Given the description of an element on the screen output the (x, y) to click on. 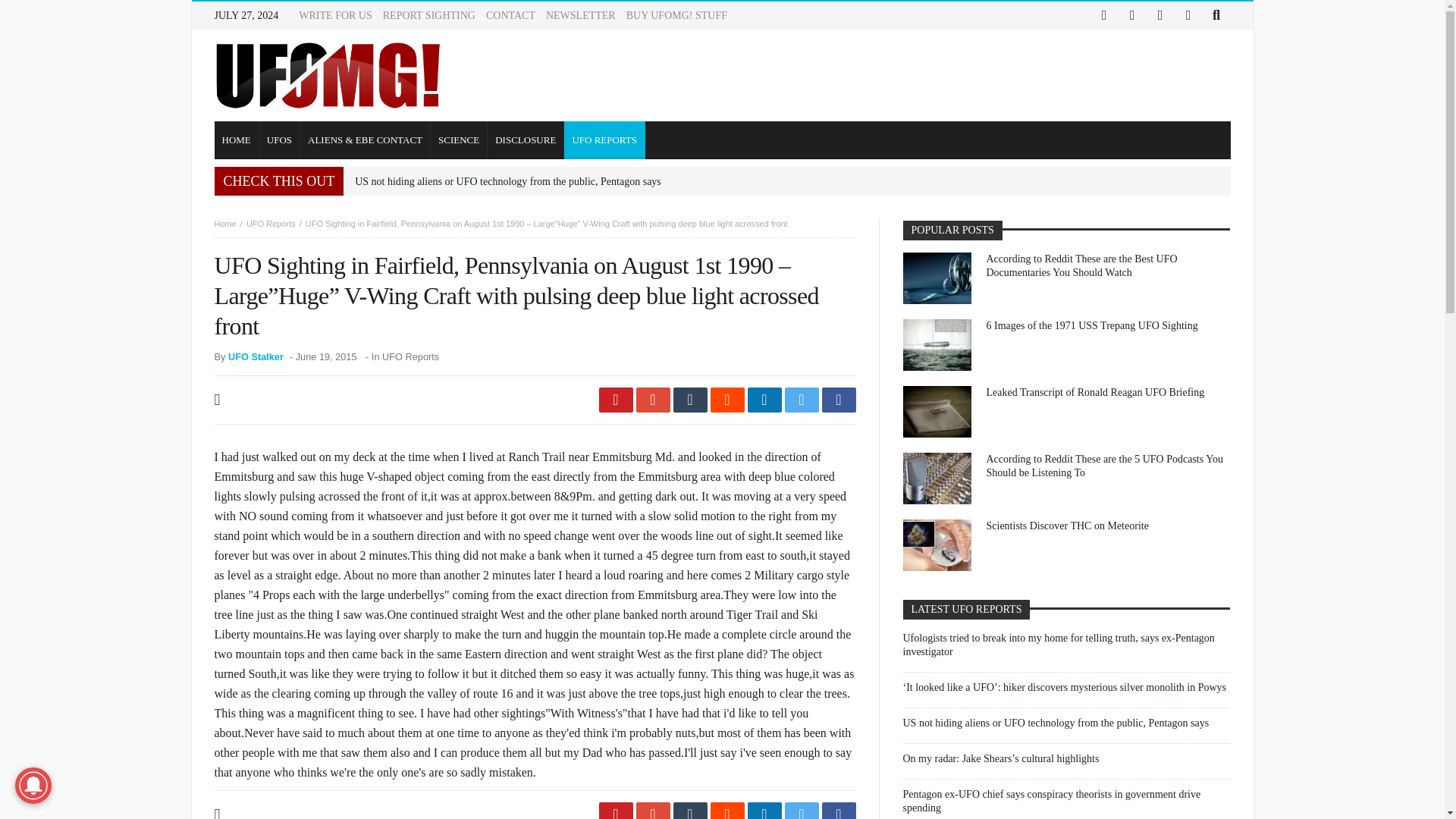
Twitter (1131, 15)
REPORT SIGHTING (429, 15)
Facebook (1104, 15)
Youtube (1160, 15)
Advertisement (954, 74)
NEWSLETTER (580, 15)
UFOS (279, 139)
HOME (236, 139)
CONTACT (510, 15)
BUY UFOMG! STUFF (676, 15)
WRITE FOR US (334, 15)
Rss (1187, 15)
